Given the description of an element on the screen output the (x, y) to click on. 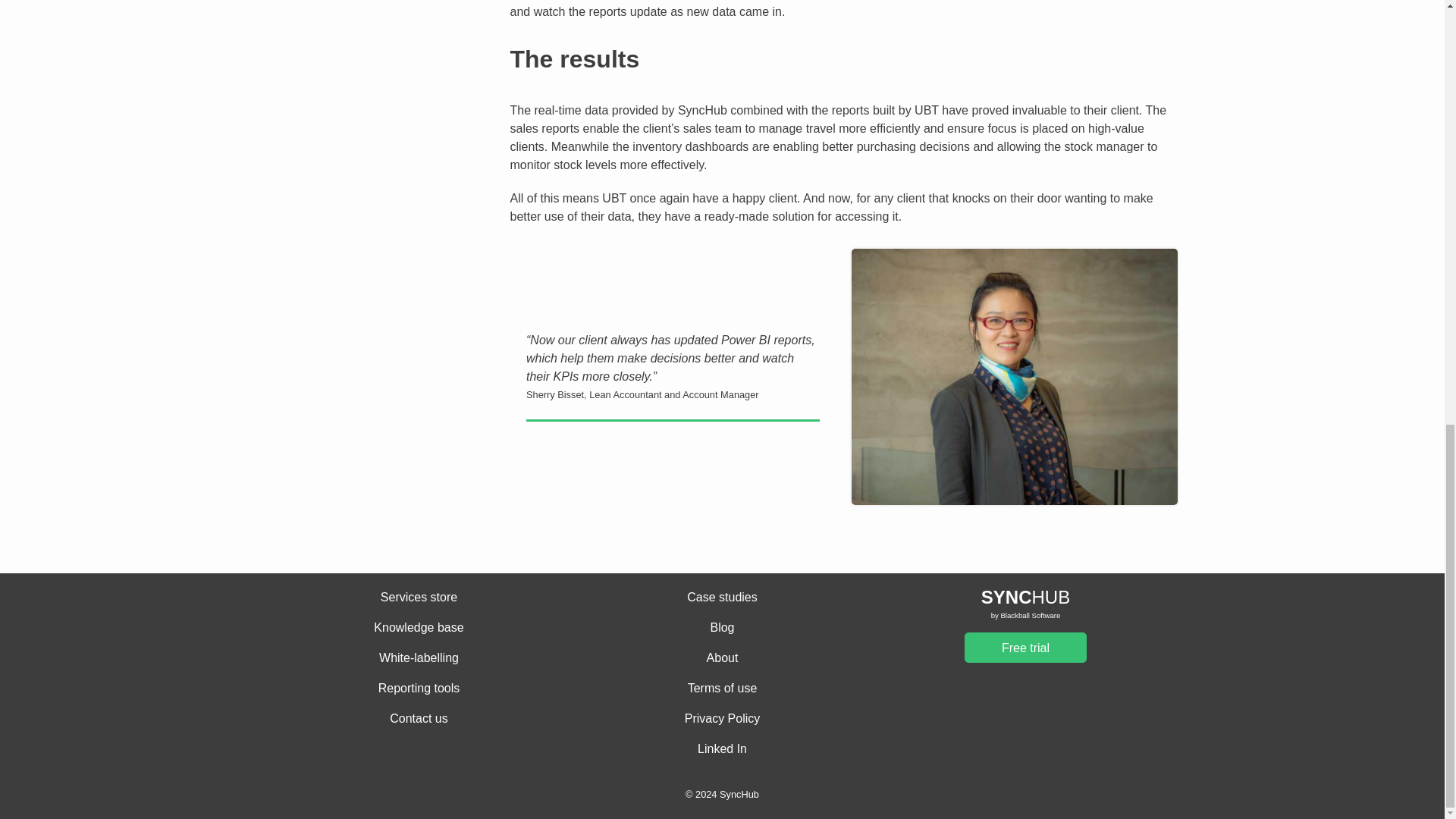
White-labelling (418, 658)
Reporting tools (418, 688)
Privacy Policy (721, 719)
Articles and insights for data driven businesses (721, 628)
Knowledge base (418, 628)
Linked In (721, 749)
Contact us (418, 719)
by Blackball Software (1024, 615)
Services store (418, 597)
Free trial (1024, 647)
Terms of use (721, 688)
Blog (721, 628)
Case studies (721, 597)
About (721, 658)
Products (721, 597)
